Given the description of an element on the screen output the (x, y) to click on. 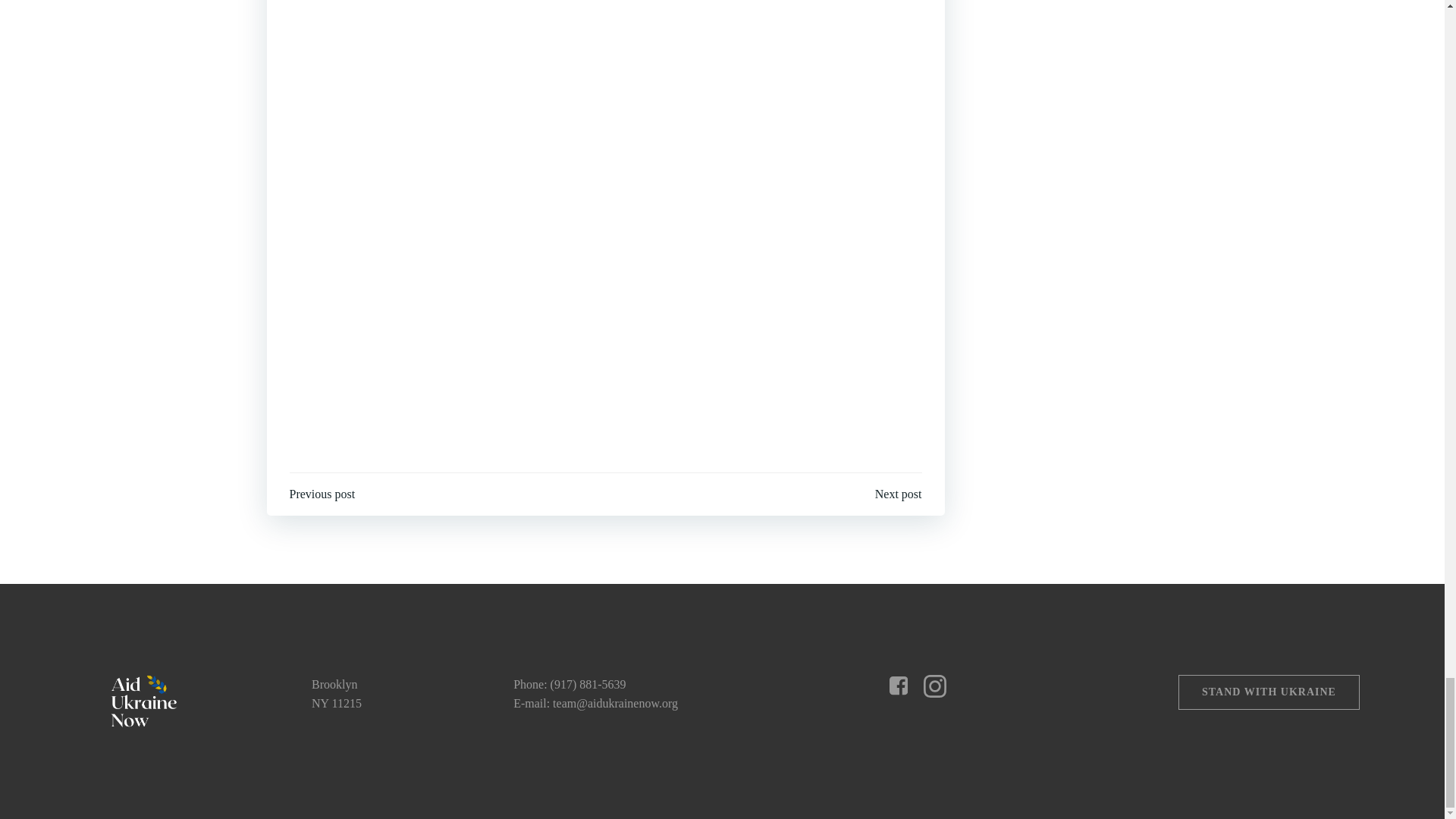
Next post (898, 494)
Previous post (322, 494)
STAND WITH UKRAINE (1268, 692)
